Given the description of an element on the screen output the (x, y) to click on. 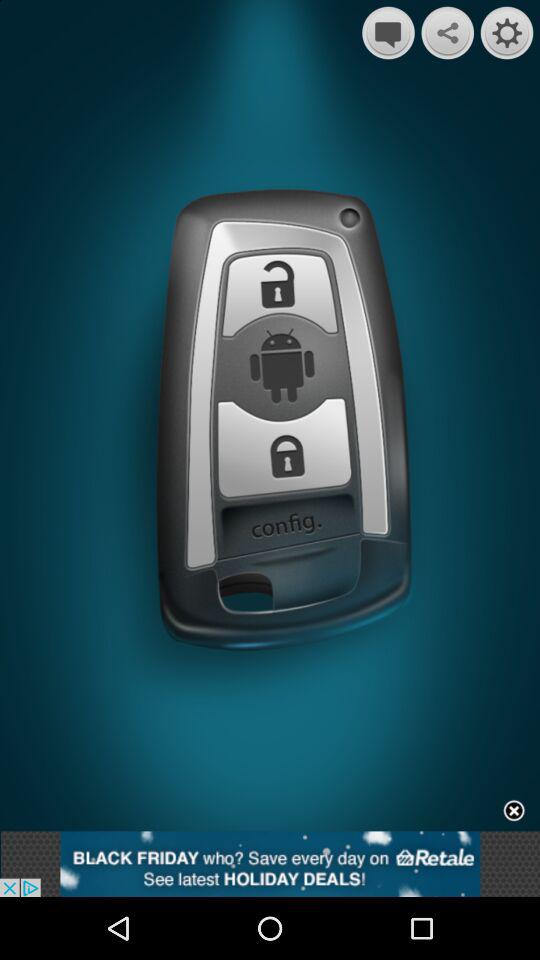
lock (279, 297)
